Given the description of an element on the screen output the (x, y) to click on. 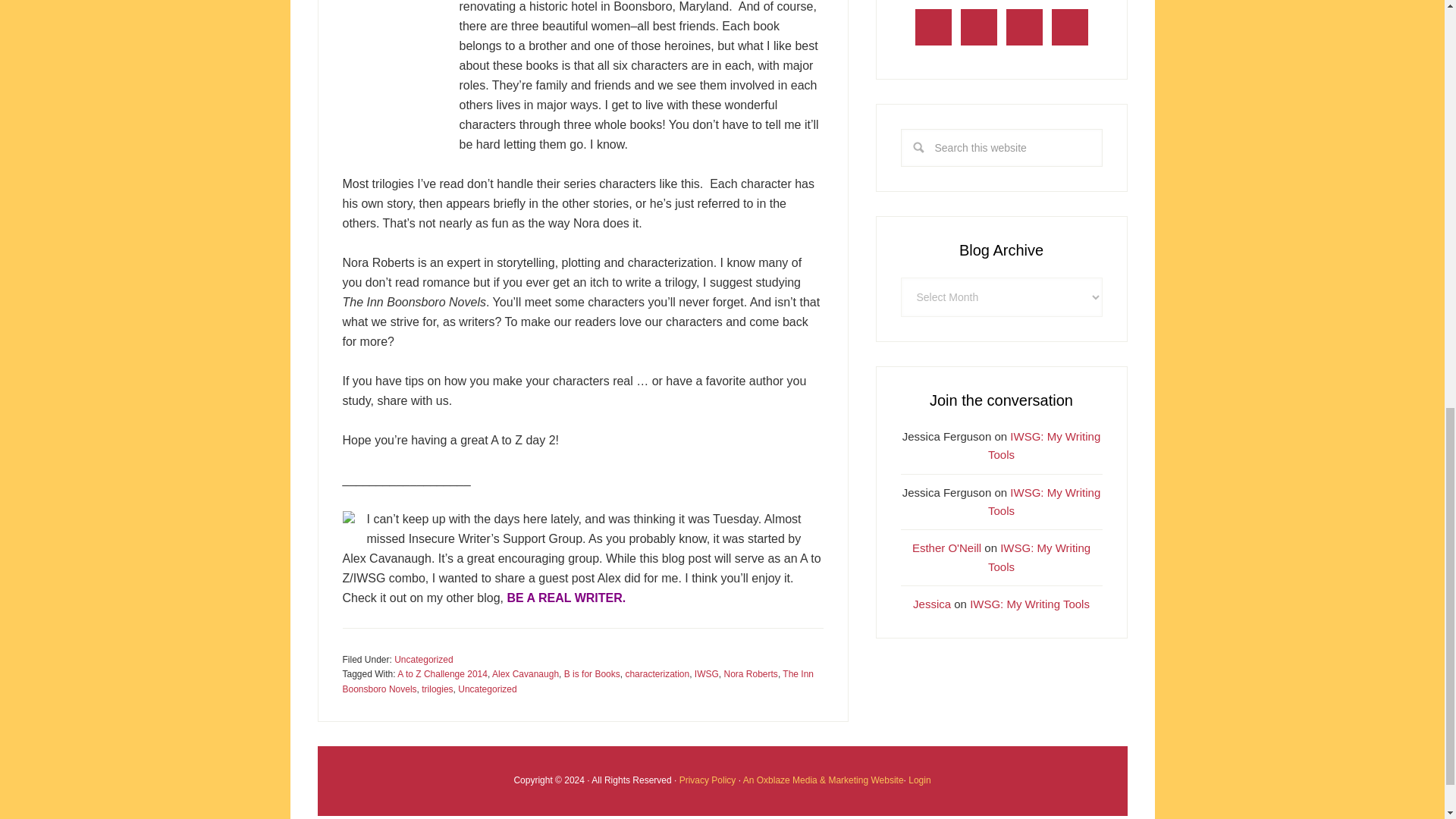
The Inn Boonsboro Novels (577, 681)
Alex Cavanaugh (525, 674)
Esther O'Neill (946, 547)
Privacy Policy (708, 779)
B is for Books (592, 674)
IWSG: My Writing Tools (1044, 500)
Nora Roberts (750, 674)
Uncategorized (487, 688)
Jessica (931, 603)
IWSG: My Writing Tools (1044, 445)
A to Z Challenge 2014 (442, 674)
IWSG: My Writing Tools (1039, 556)
IWSG (706, 674)
characterization (656, 674)
